Given the description of an element on the screen output the (x, y) to click on. 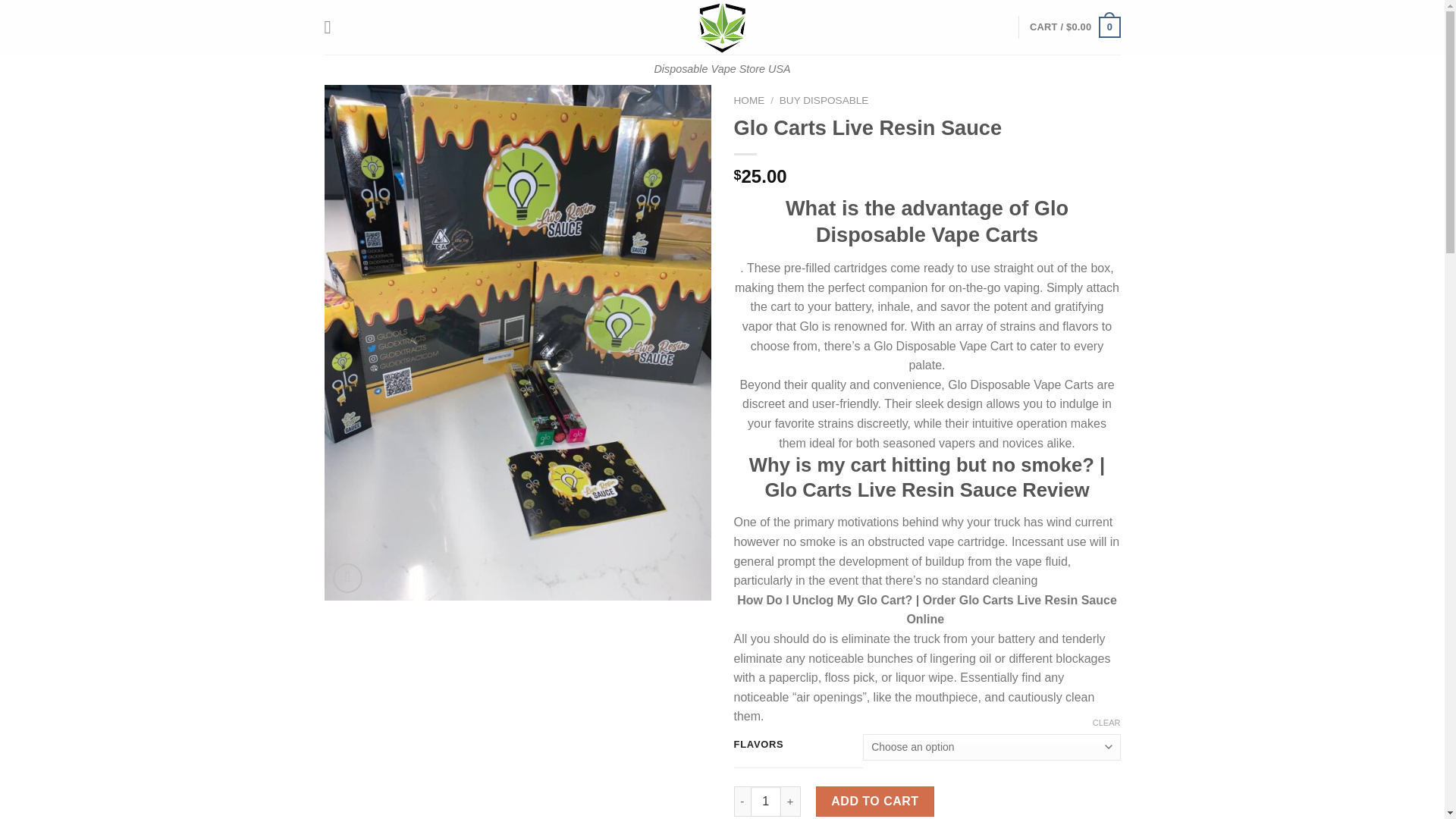
Zoom (347, 577)
Disposable Vape Store USA - Disposable Vape Store USA (721, 27)
CLEAR (1107, 722)
BUY DISPOSABLE (823, 100)
Cart (1074, 26)
1 (765, 801)
HOME (749, 100)
ADD TO CART (874, 801)
Qty (765, 801)
